Given the description of an element on the screen output the (x, y) to click on. 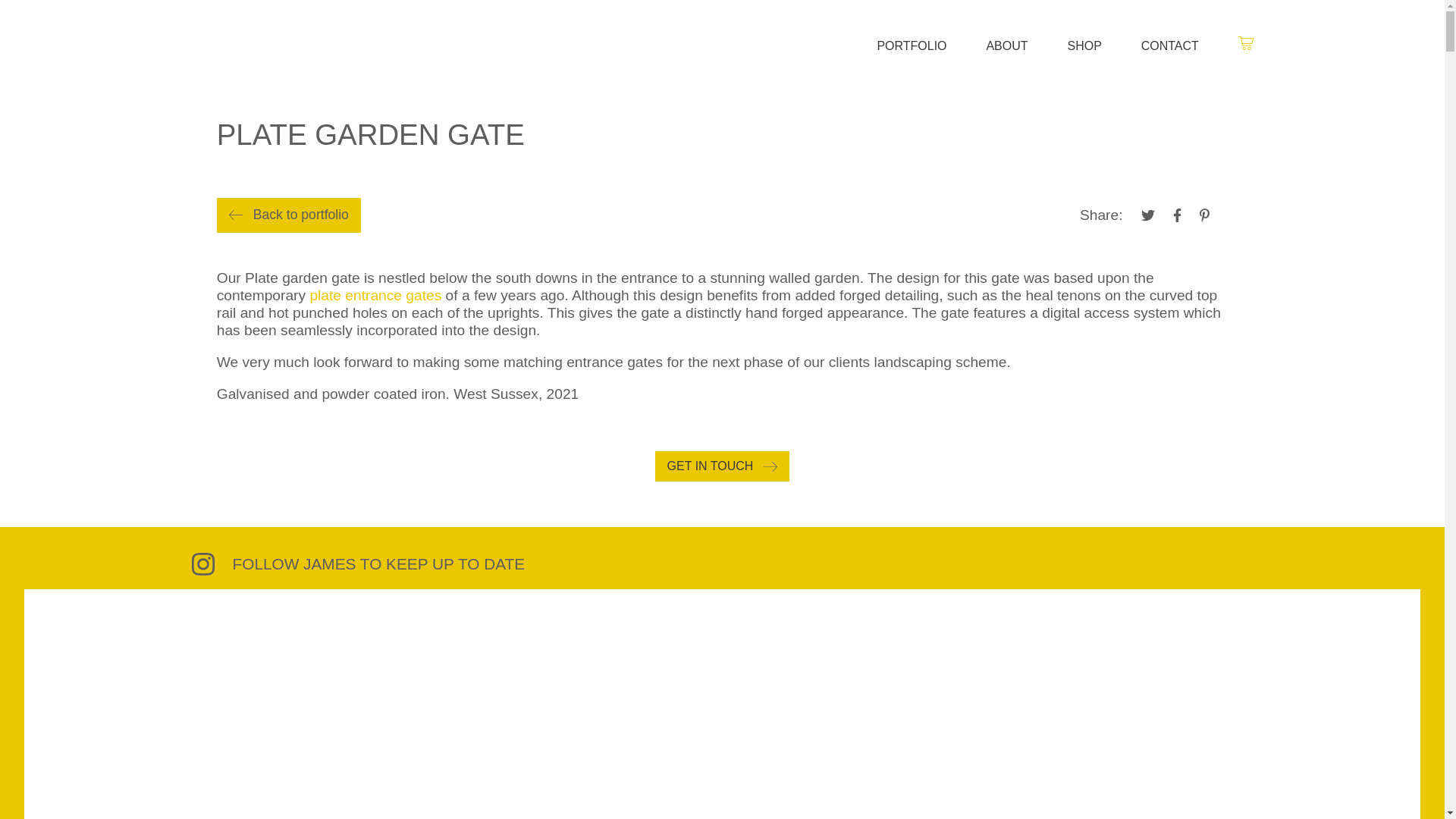
SHOP (1083, 45)
ABOUT (1006, 45)
CONTACT (1169, 45)
 plate entrance gates (373, 295)
PORTFOLIO (911, 45)
GET IN TOUCH (722, 466)
Share on Twitter (1147, 214)
View basket (1236, 44)
FOLLOW JAMES TO KEEP UP TO DATE (721, 564)
Back to portfolio (288, 214)
